Given the description of an element on the screen output the (x, y) to click on. 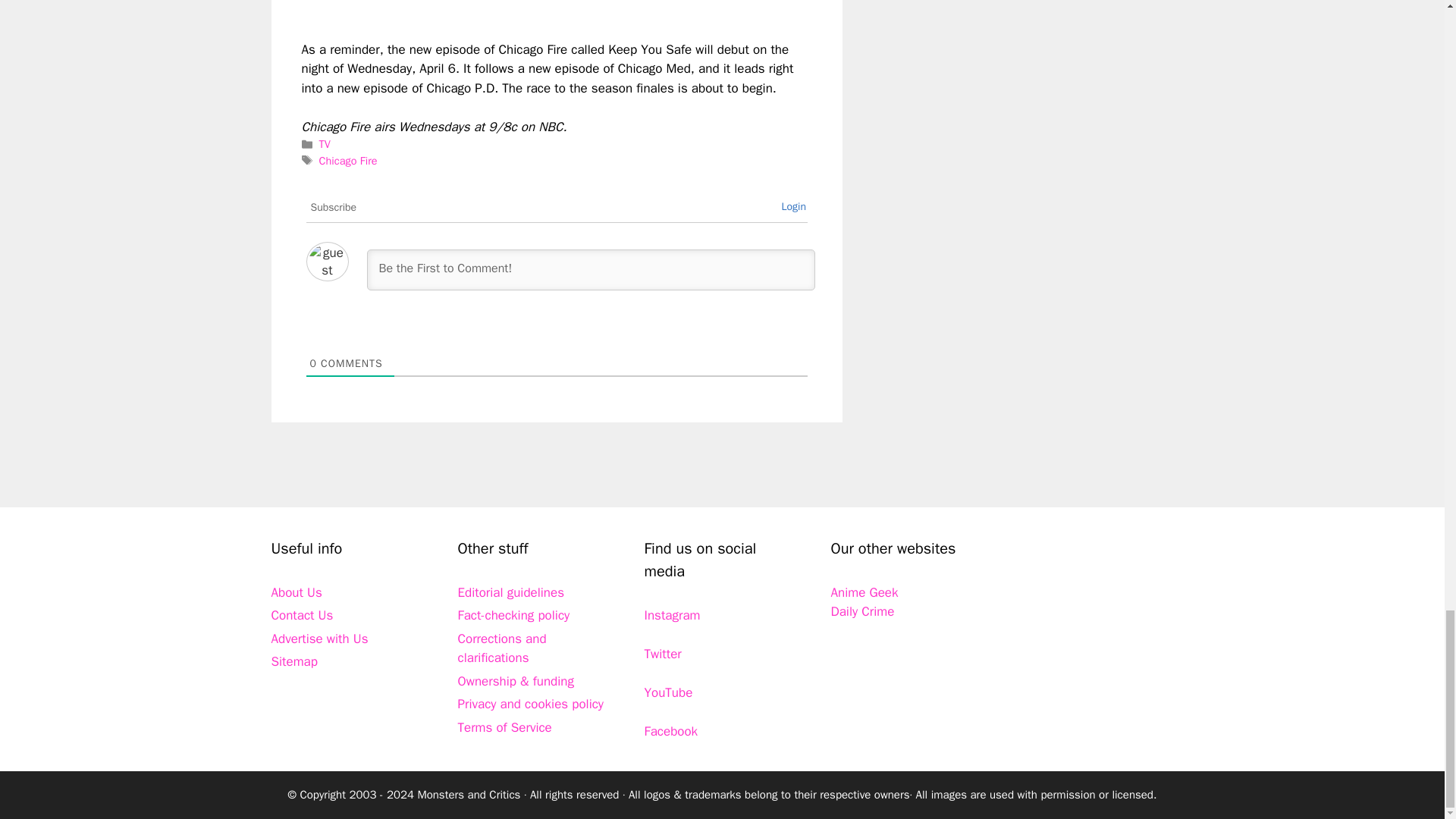
Login (793, 205)
Editorial guidelines (511, 592)
Twitter (663, 653)
Fact-checking policy (514, 615)
Instagram (672, 615)
Chicago Fire (347, 160)
Contact Us (301, 615)
Terms of Service (504, 727)
About Us (295, 592)
Privacy and cookies policy (531, 703)
